Given the description of an element on the screen output the (x, y) to click on. 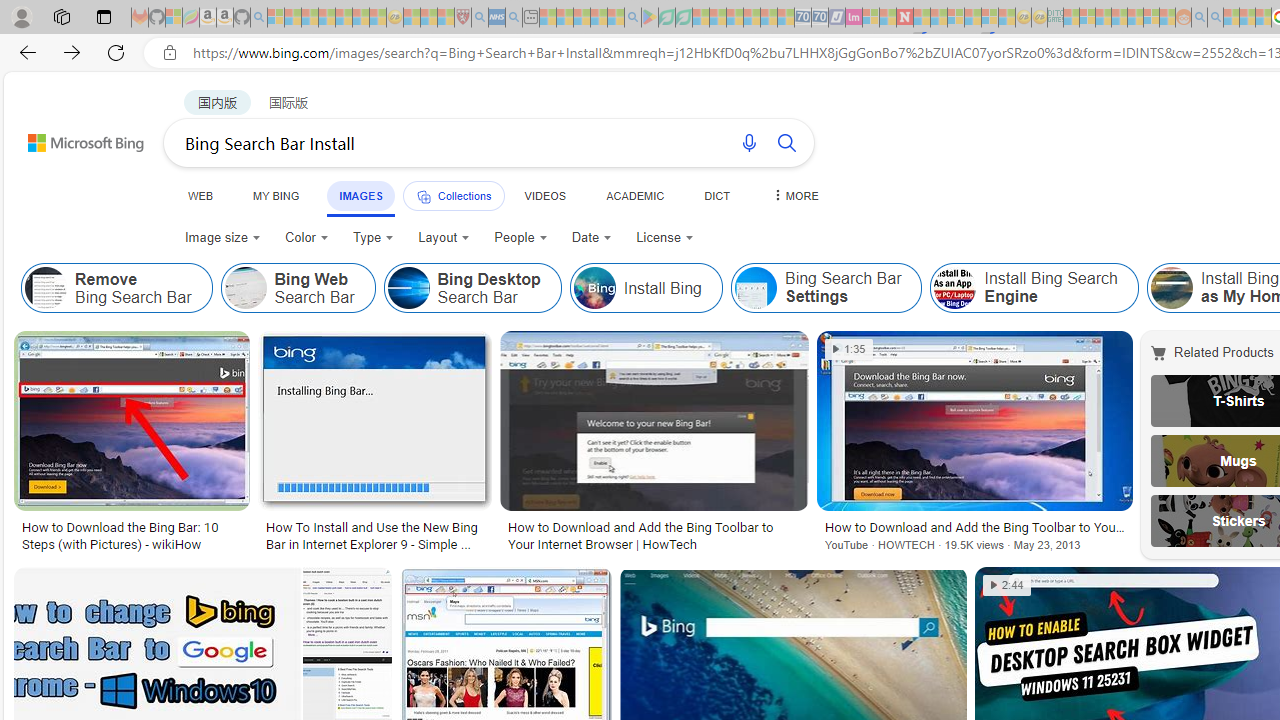
Image result for Bing Search Bar Install (347, 611)
Image result for Bing Search Bar Install (974, 421)
Back to Bing search (73, 138)
MY BING (276, 195)
Install Bing (594, 287)
